Given the description of an element on the screen output the (x, y) to click on. 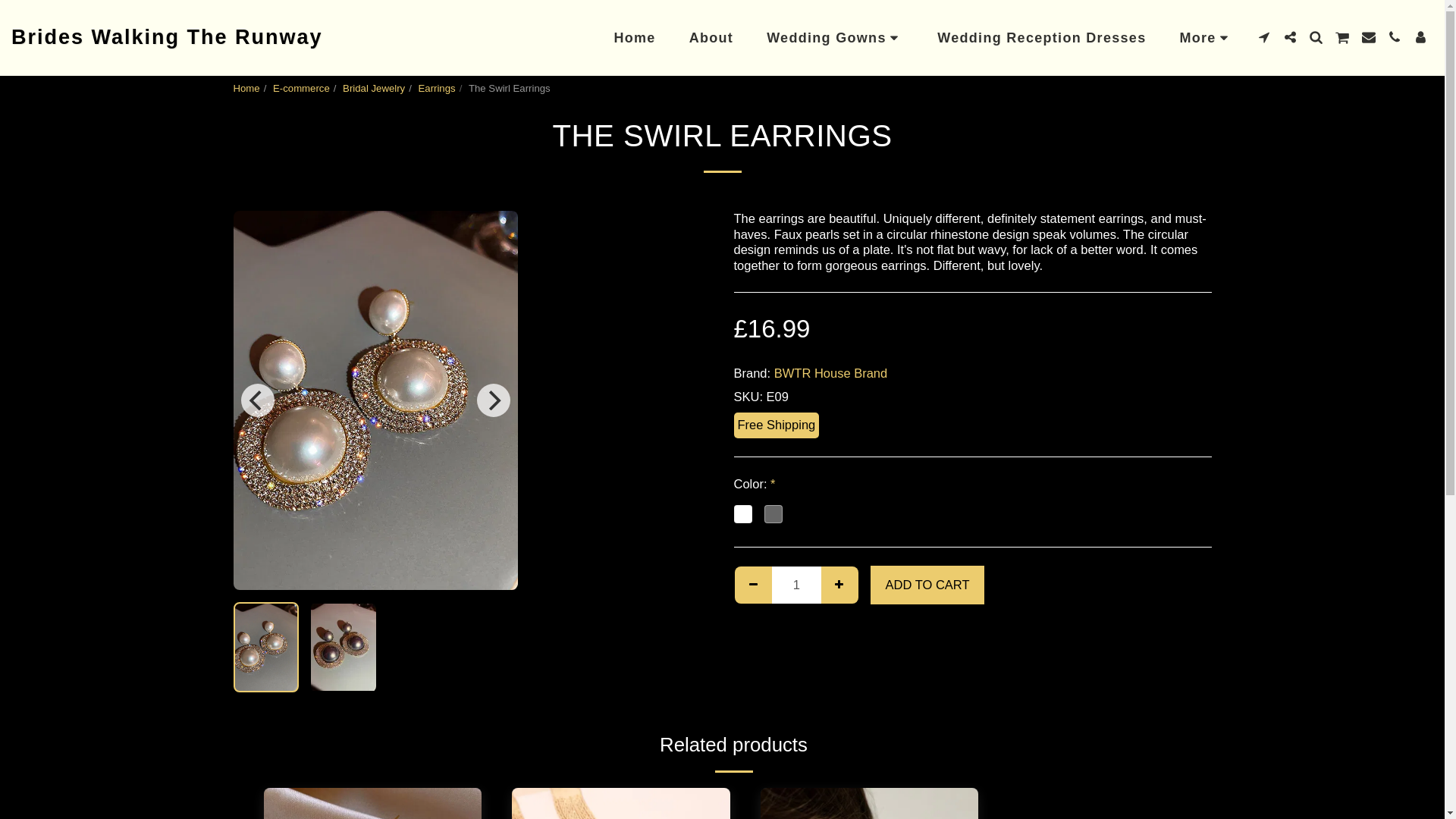
Platinum (742, 514)
Wedding Reception Dresses (1040, 37)
Dark Grey (773, 514)
Home (633, 37)
1 (796, 584)
About (711, 37)
More   (1206, 37)
